Given the description of an element on the screen output the (x, y) to click on. 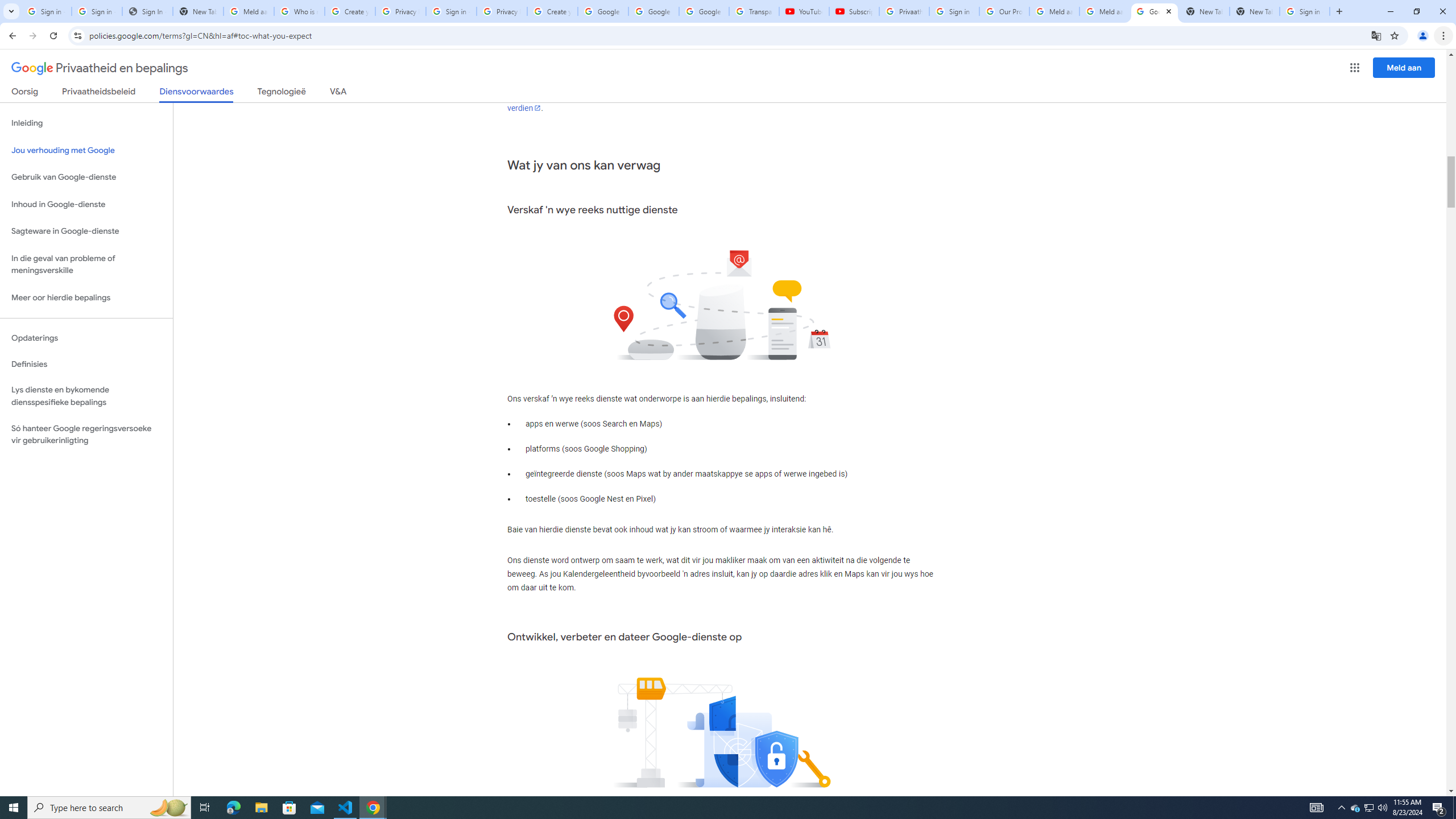
Sign in - Google Accounts (46, 11)
hoe Google se besigheid werk en hoe ons geld verdien (718, 101)
Lys dienste en bykomende diensspesifieke bepalings (86, 396)
Meld aan (1404, 67)
Sign In - USA TODAY (146, 11)
Inleiding (86, 122)
Who is my administrator? - Google Account Help (299, 11)
